Given the description of an element on the screen output the (x, y) to click on. 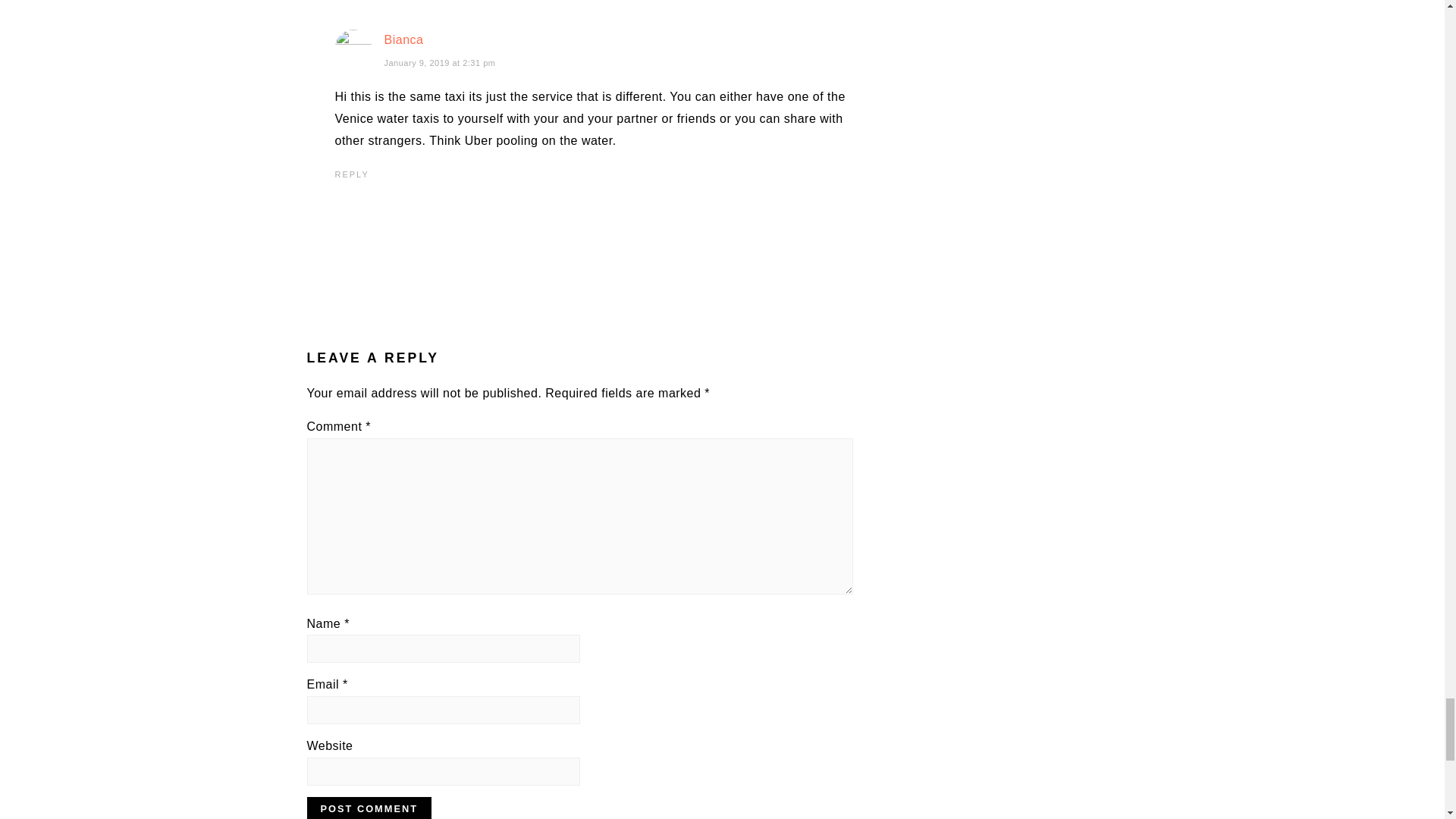
Post Comment (367, 807)
